Given the description of an element on the screen output the (x, y) to click on. 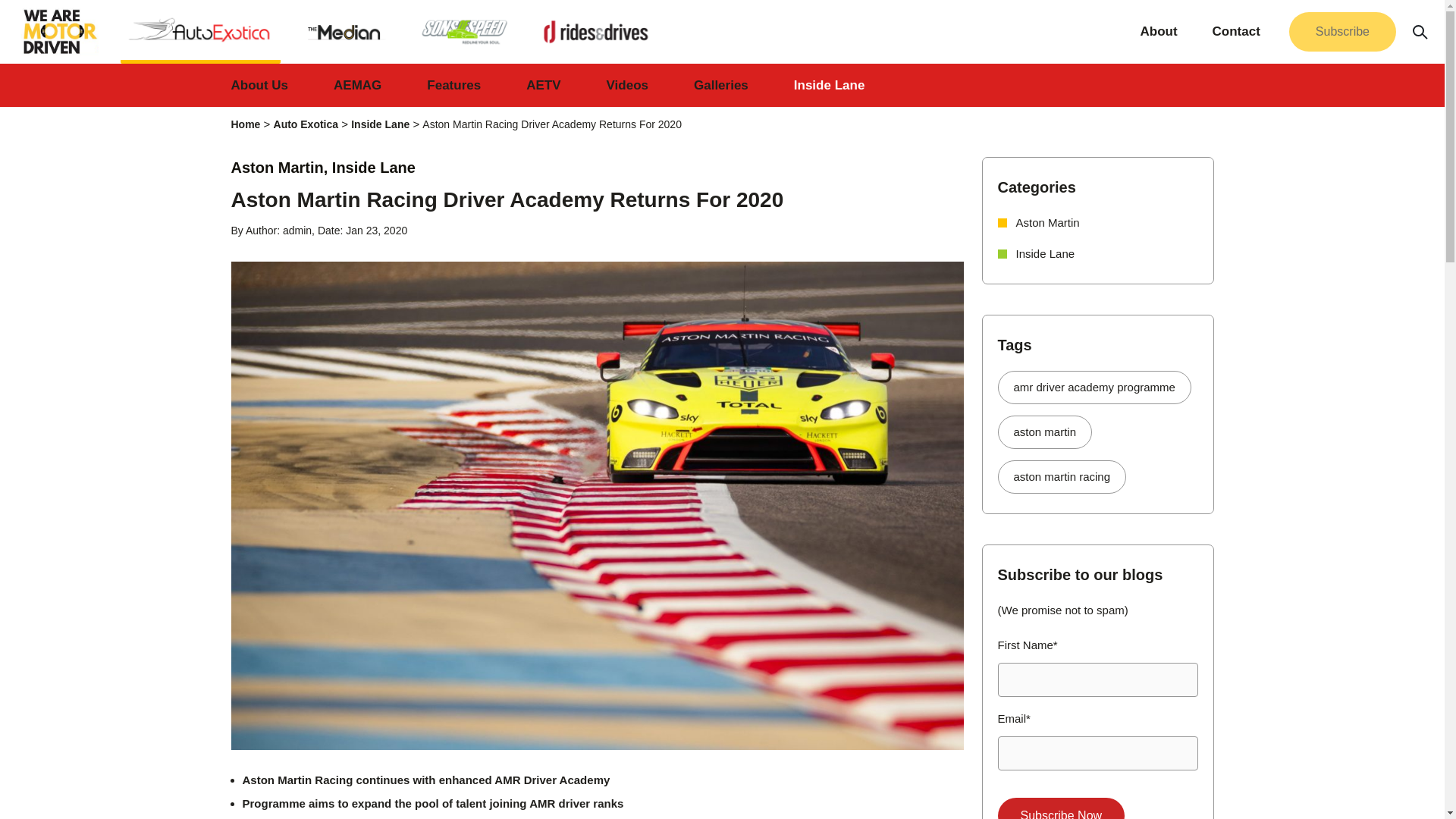
AMR Driver Academy Programme Tag (1094, 387)
Inside Lane (1045, 253)
Inside Lane (372, 167)
Features (453, 84)
Subscribe Now (1061, 808)
Inside Lane Tag (1045, 253)
Inside Lane (379, 123)
Subscribe (1342, 30)
Subscribe (1342, 31)
Aston Martin Tag (1045, 431)
aston martin (1045, 431)
AEMAG (357, 84)
About Us (259, 84)
Aston Martin, (280, 167)
amr driver academy programme (1094, 387)
